Given the description of an element on the screen output the (x, y) to click on. 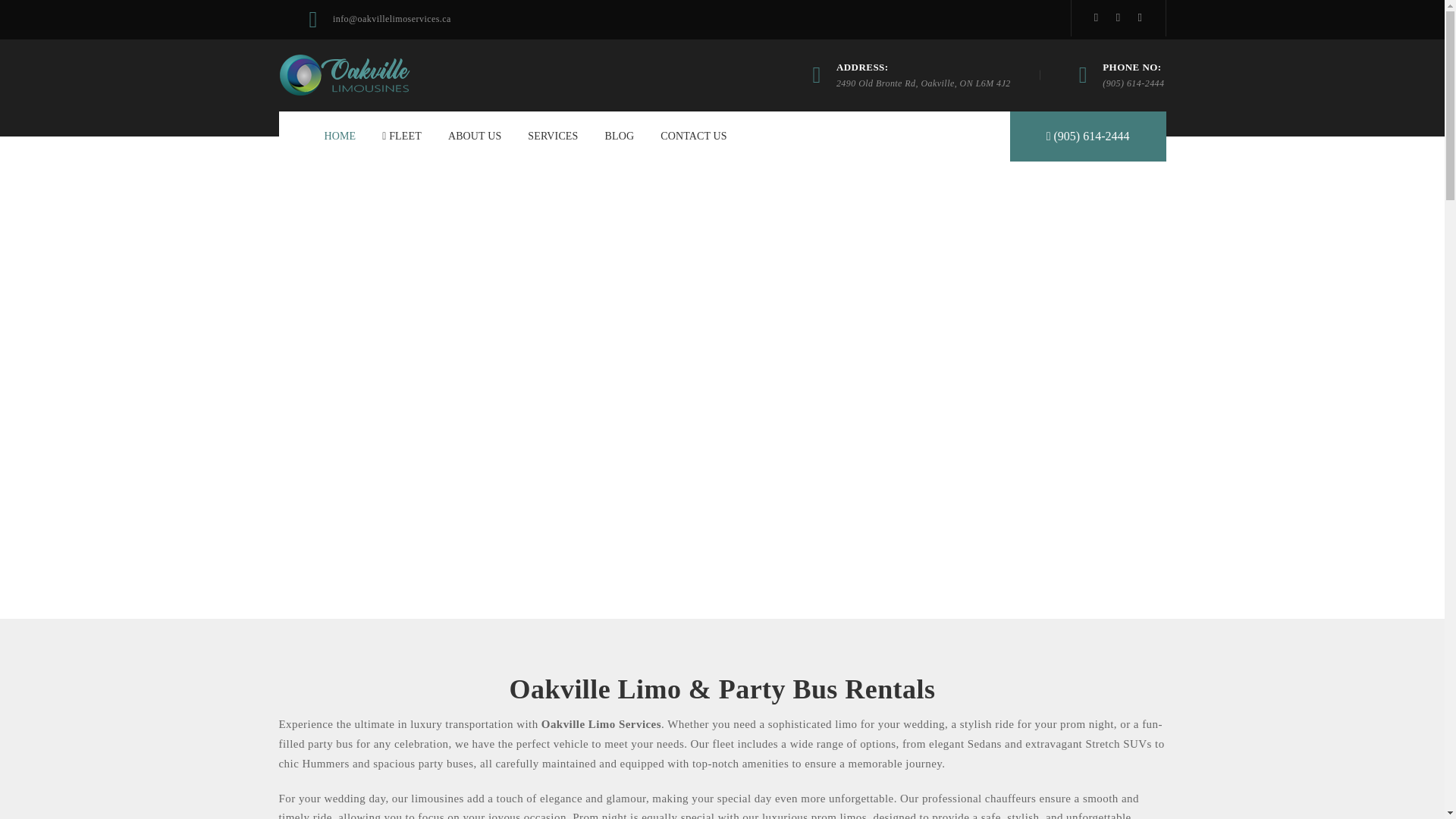
HOME (340, 136)
SERVICES (552, 136)
Tap to Call (1088, 136)
ABOUT US (474, 136)
Tap to Call (1132, 82)
Oakville Limo Services-Oakville Limousines and Party Buses (344, 73)
CONTACT US (693, 136)
